Given the description of an element on the screen output the (x, y) to click on. 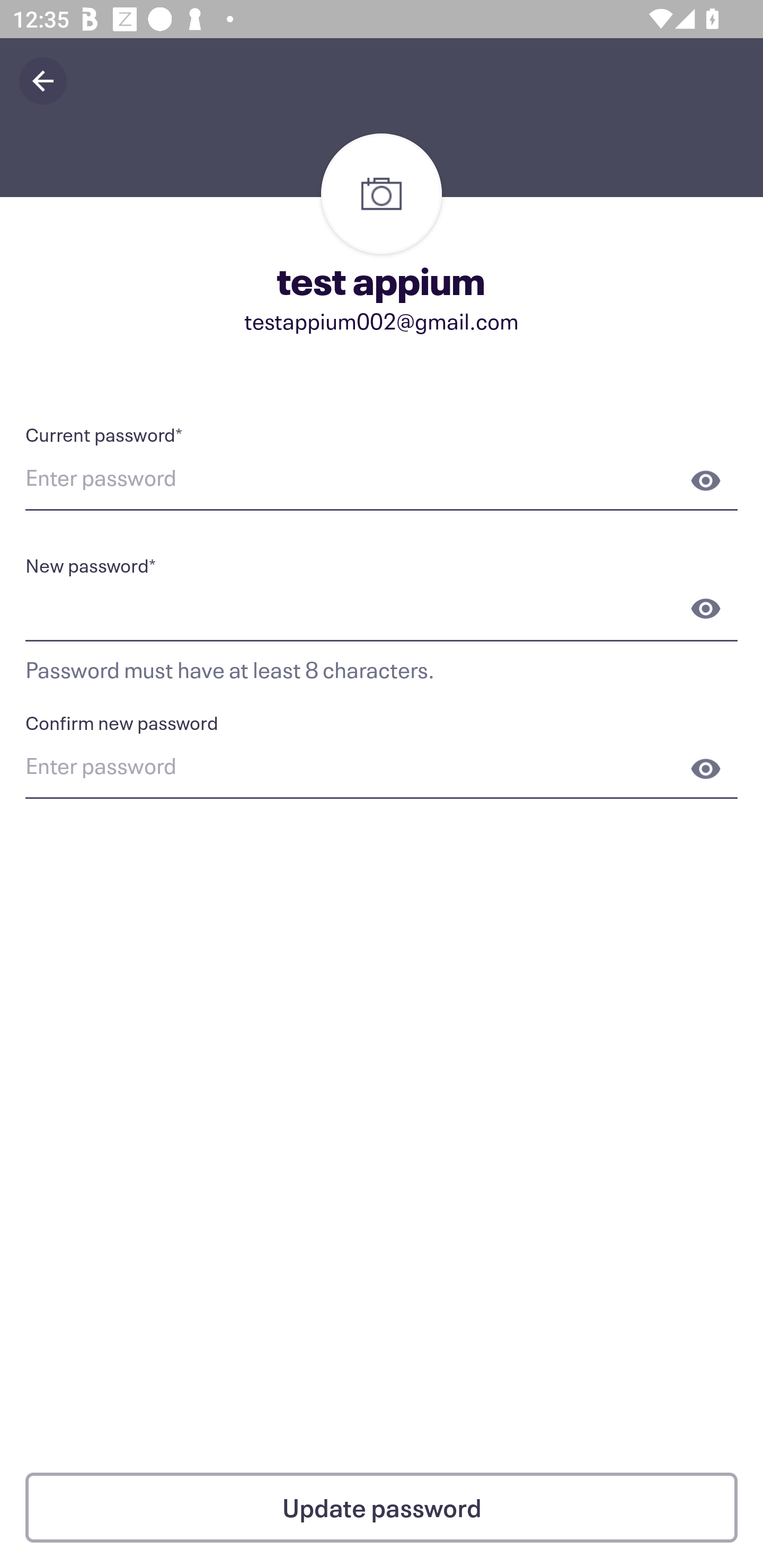
Enter password (381, 480)
Show password (705, 480)
Enter password (381, 768)
Show password (705, 768)
Update password (381, 1507)
